Given the description of an element on the screen output the (x, y) to click on. 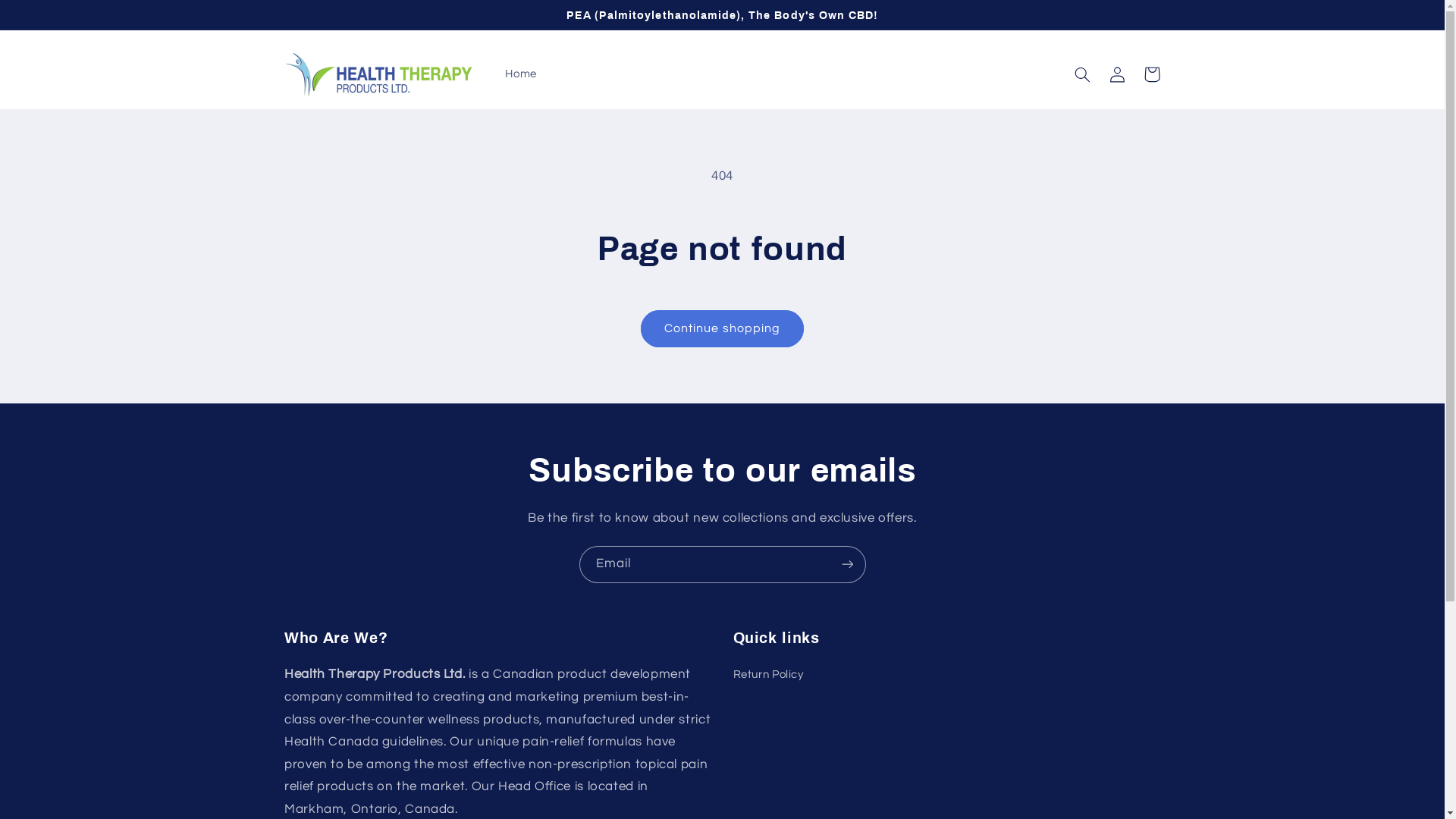
Home Element type: text (520, 74)
Cart Element type: text (1151, 73)
Log in Element type: text (1116, 73)
Return Policy Element type: text (767, 676)
Continue shopping Element type: text (722, 328)
